Given the description of an element on the screen output the (x, y) to click on. 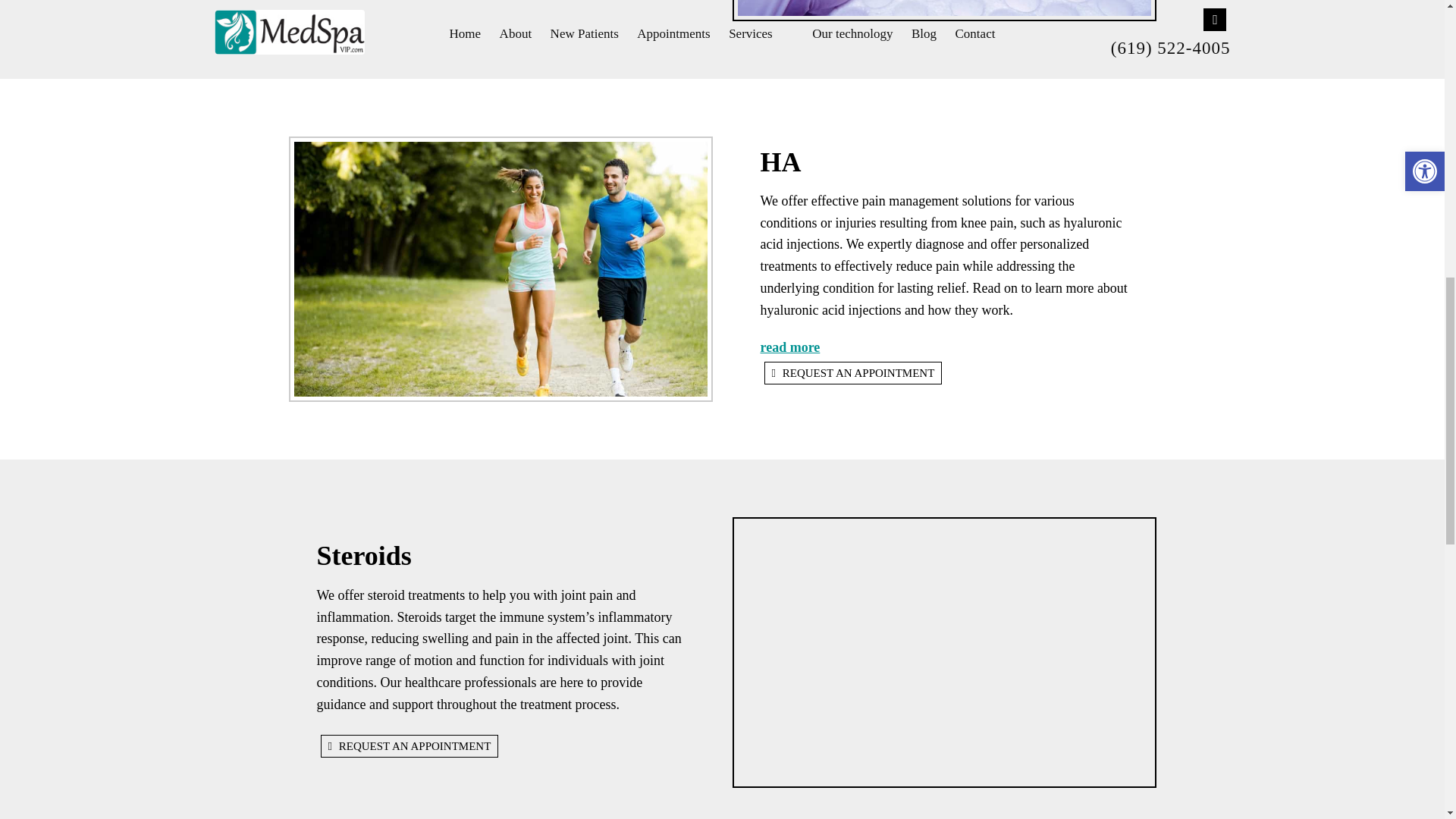
read more (789, 346)
